Given the description of an element on the screen output the (x, y) to click on. 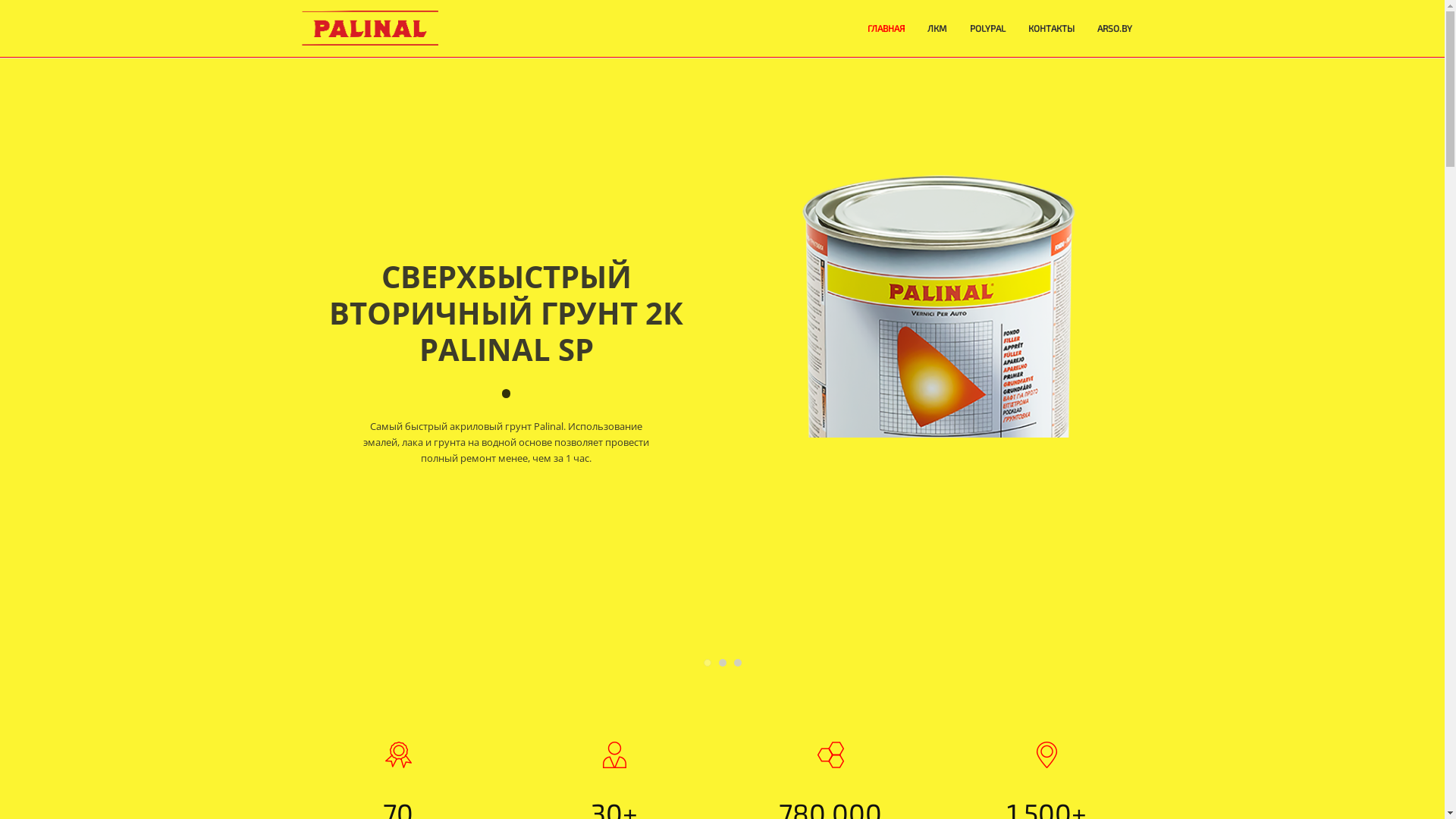
ARSO.BY Element type: text (1113, 28)
POLYPAL Element type: text (986, 28)
